Given the description of an element on the screen output the (x, y) to click on. 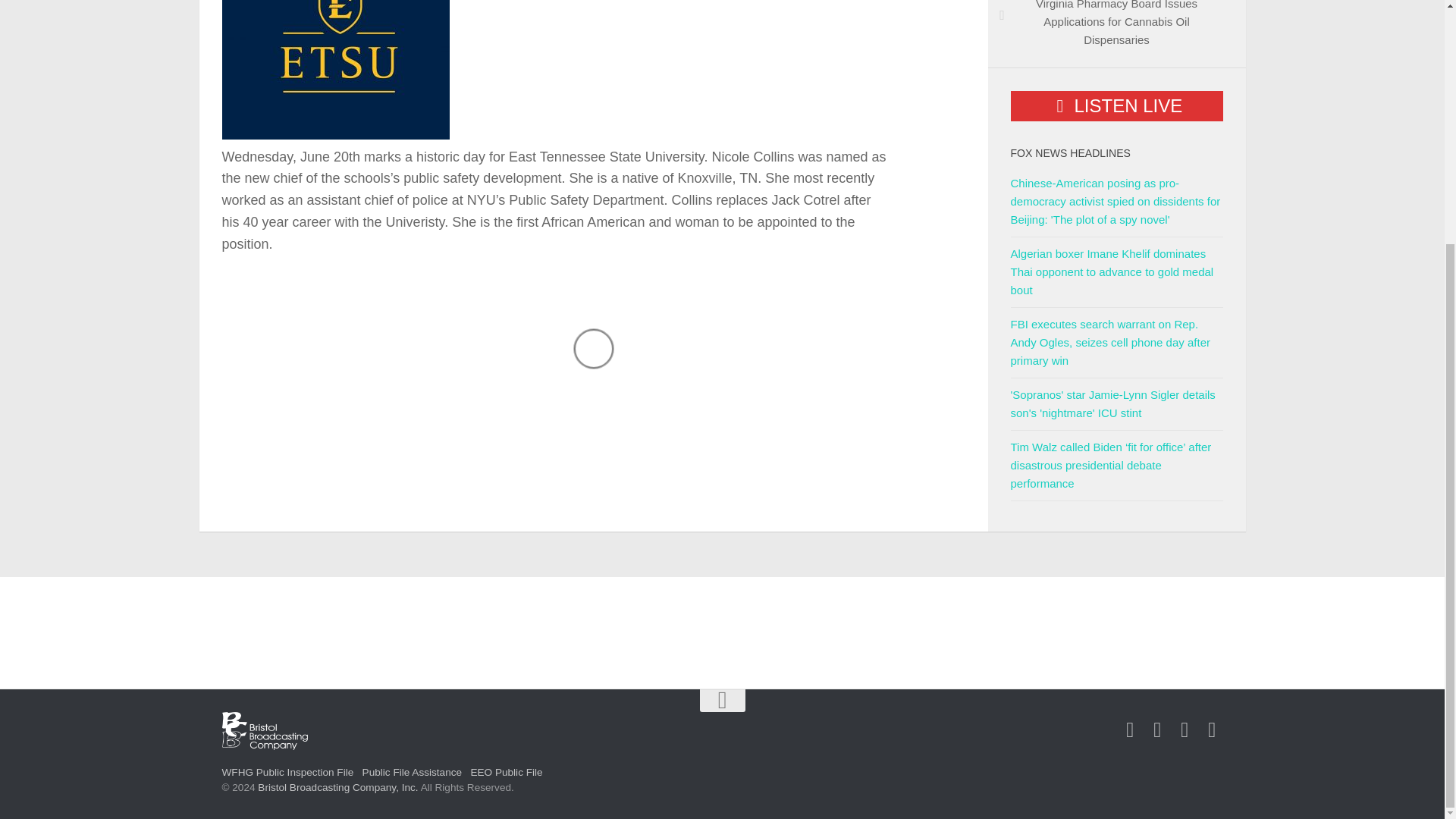
Follow us on Facebook (1129, 730)
Rss Feed (1212, 730)
Follow us on Twitter (1157, 730)
Contact Us (1184, 730)
